Given the description of an element on the screen output the (x, y) to click on. 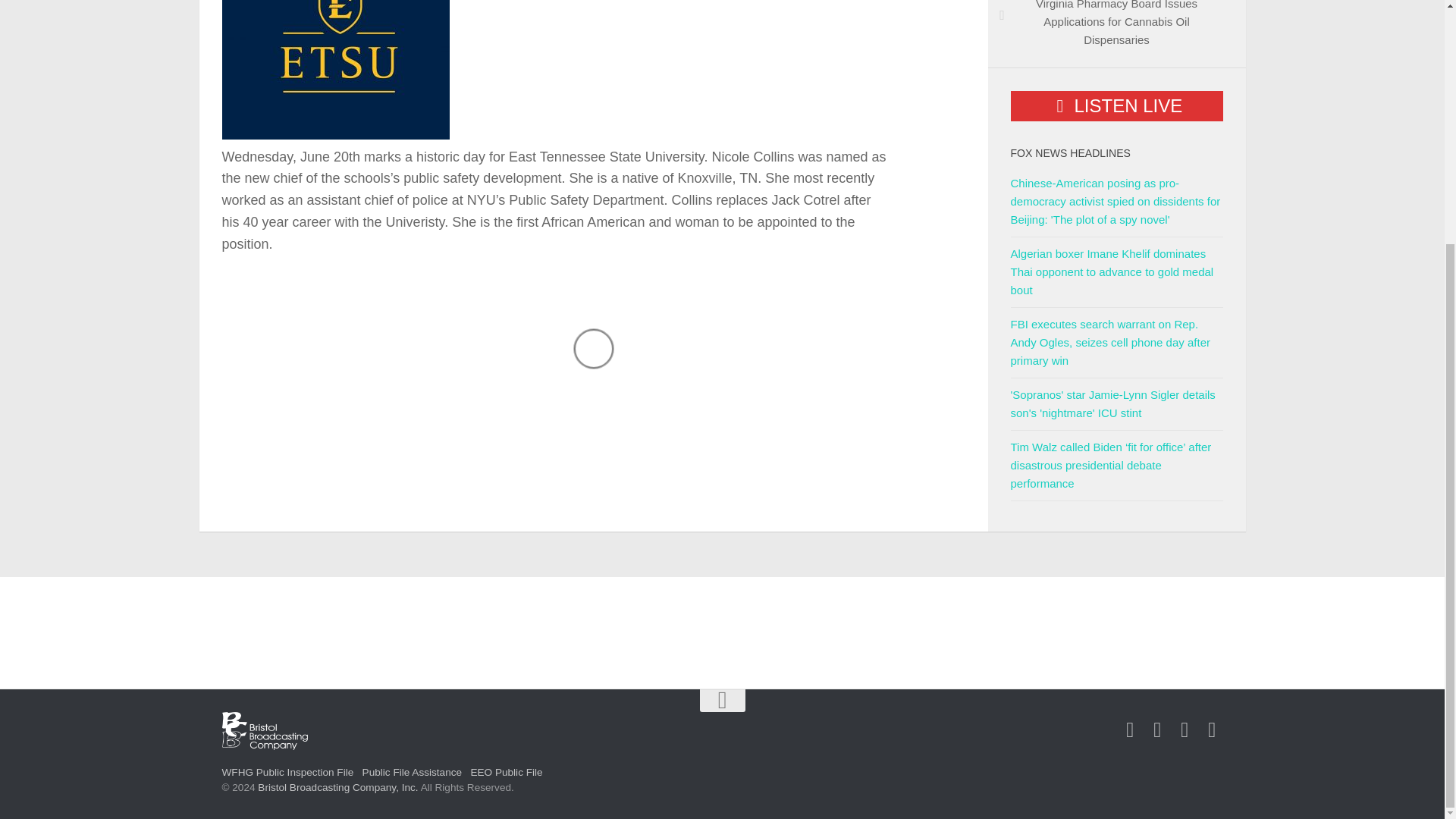
Follow us on Facebook (1129, 730)
Rss Feed (1212, 730)
Follow us on Twitter (1157, 730)
Contact Us (1184, 730)
